Given the description of an element on the screen output the (x, y) to click on. 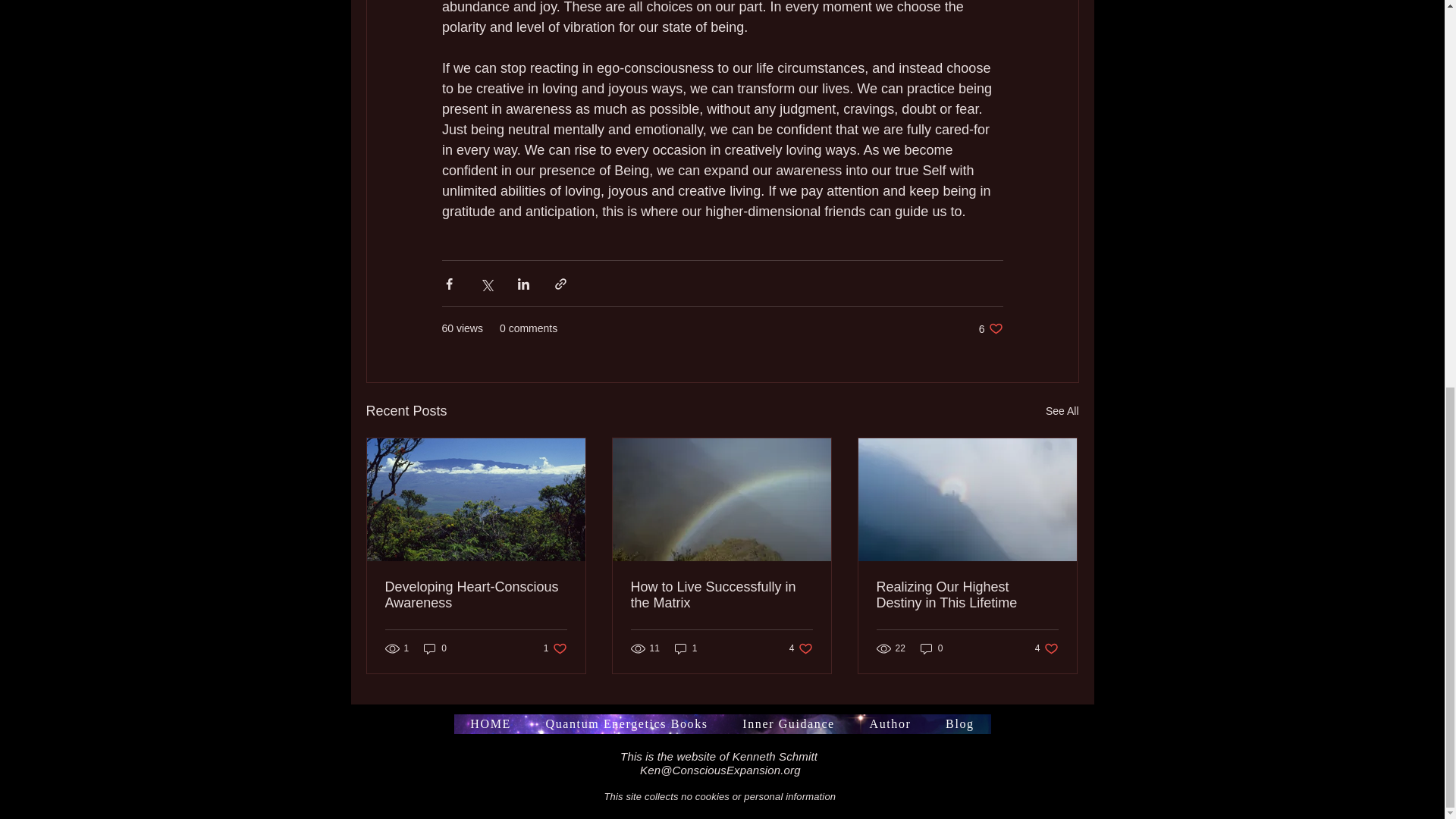
How to Live Successfully in the Matrix (990, 328)
Author (1046, 648)
0 (721, 594)
1 (890, 723)
Blog (931, 648)
0 (685, 648)
Developing Heart-Conscious Awareness (959, 723)
See All (435, 648)
Realizing Our Highest Destiny in This Lifetime (800, 648)
HOME (476, 594)
Inner Guidance (1061, 411)
